Given the description of an element on the screen output the (x, y) to click on. 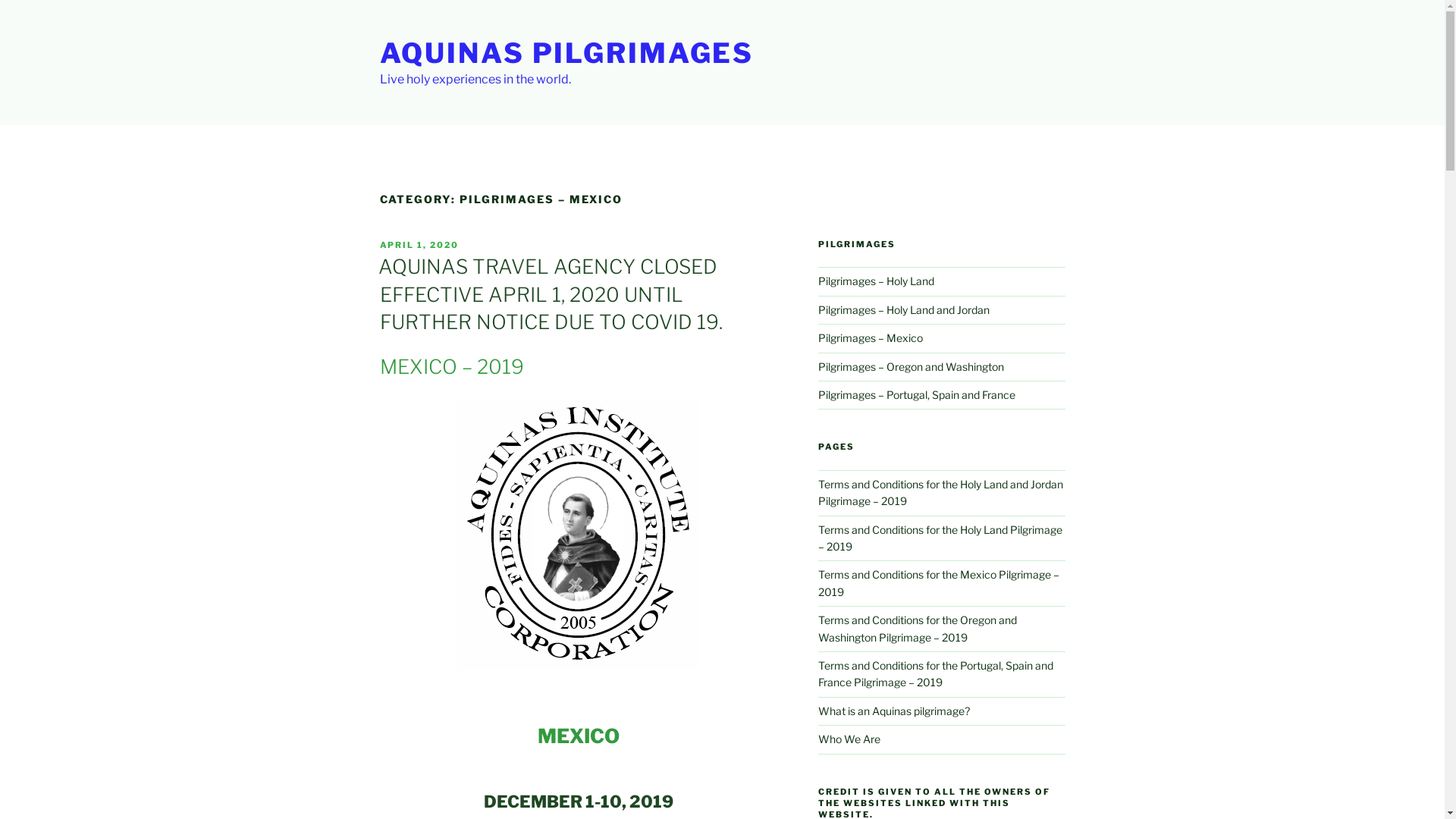
Who We Are Element type: text (849, 738)
Skip to content Element type: text (0, 0)
APRIL 1, 2020 Element type: text (418, 244)
AQUINAS PILGRIMAGES Element type: text (566, 52)
What is an Aquinas pilgrimage? Element type: text (893, 710)
